Given the description of an element on the screen output the (x, y) to click on. 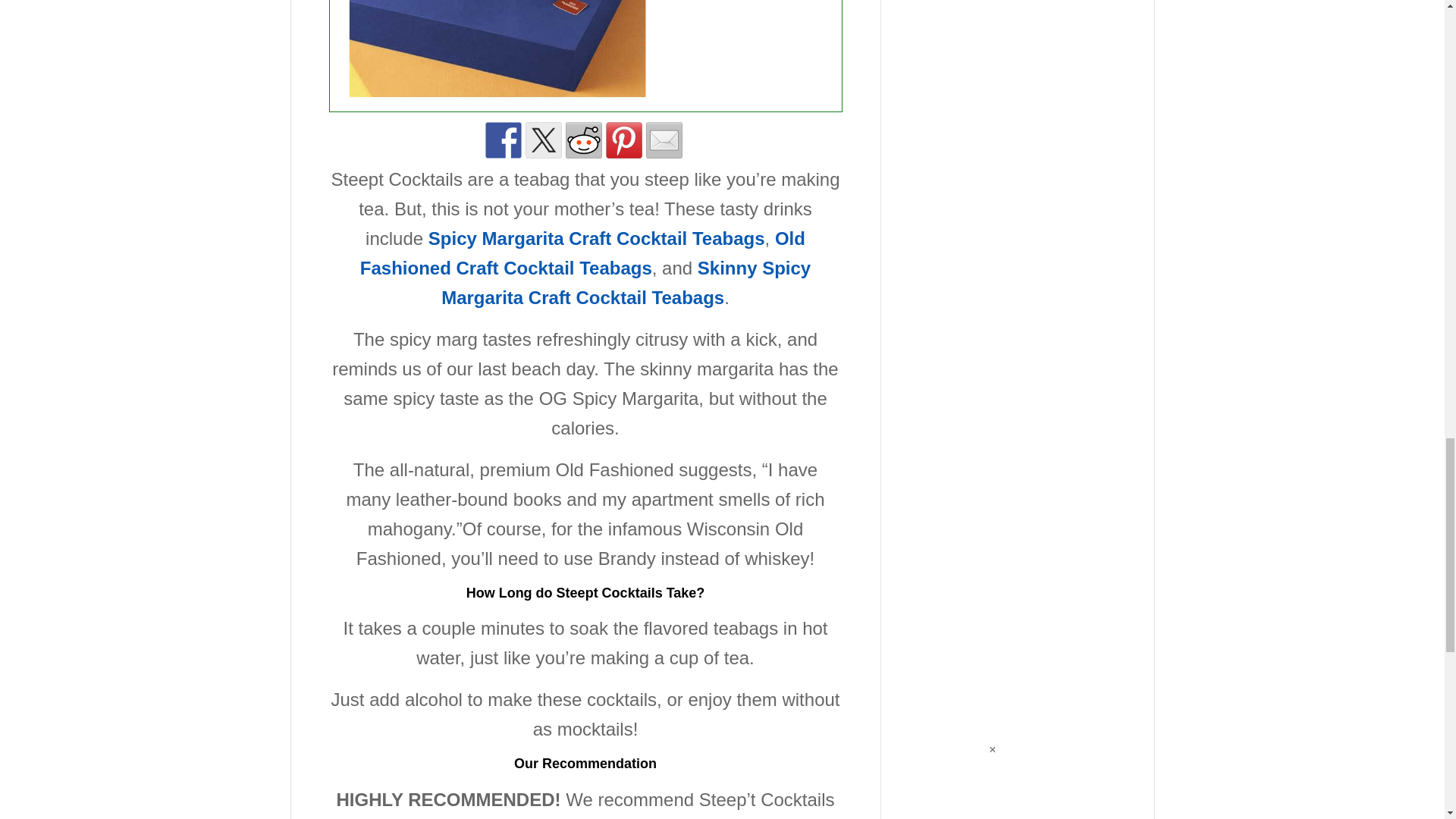
Share on Facebook (502, 140)
Share on Reddit (584, 140)
Pin it with Pinterest (623, 140)
Spicy Margarita Craft Cocktail Teabags (596, 238)
Old Fashioned Craft Cocktail Teabags (582, 253)
Share by email (664, 140)
Skinny Spicy Margarita Craft Cocktail Teabags (625, 282)
Share on Twitter (542, 140)
